Given the description of an element on the screen output the (x, y) to click on. 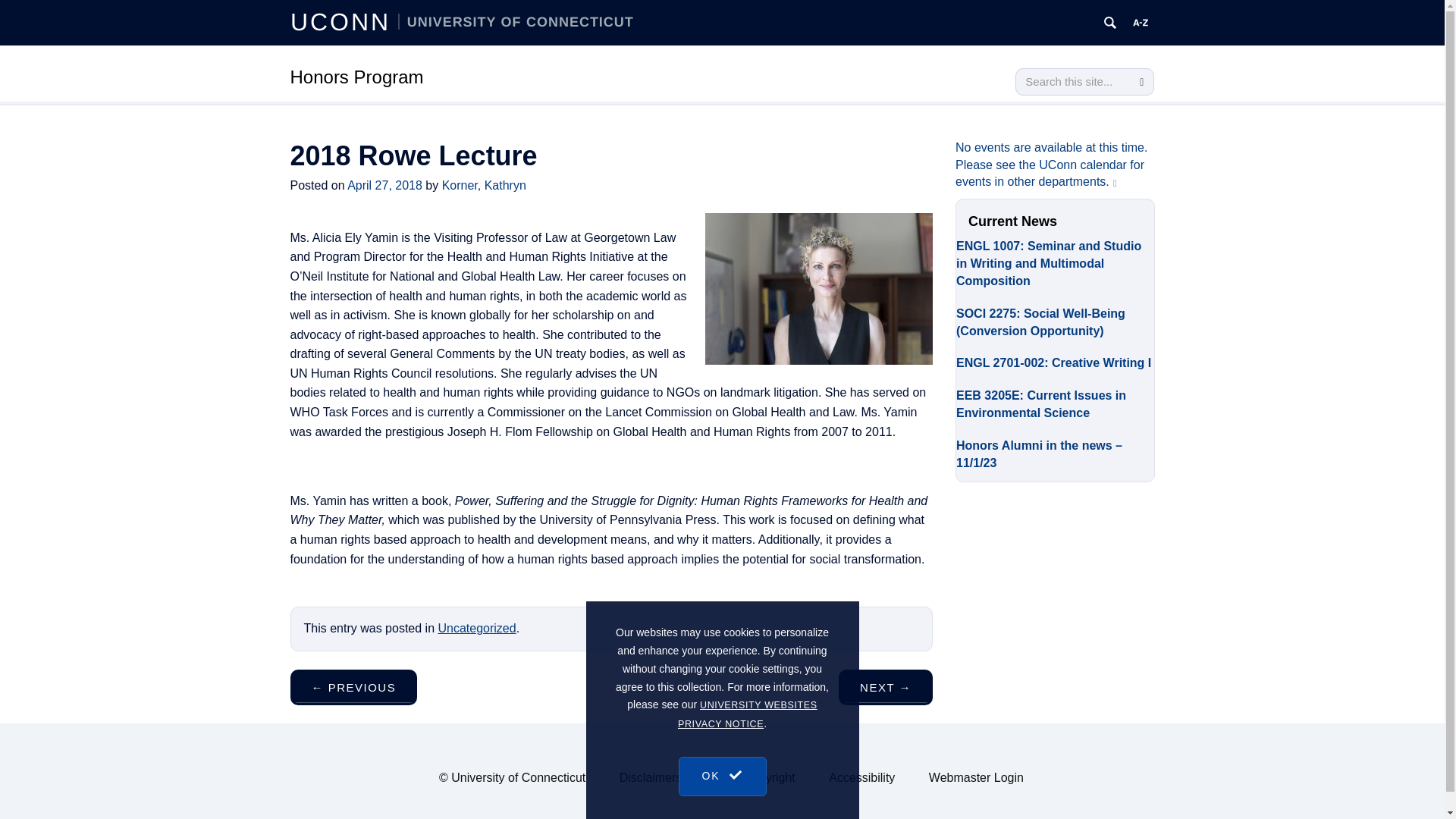
Search (1141, 81)
Search (1141, 81)
Posts by Korner, Kathryn (483, 185)
Honors Program (356, 76)
ENGL 2701-002: Creative Writing I (1055, 360)
Search UConn (1109, 22)
Korner, Kathryn (483, 185)
Webmaster Login (975, 776)
ENGL 2701-002: Creative Writing I (1055, 360)
Uncategorized (476, 627)
EEB 3205E: Current Issues in Environmental Science (1055, 401)
UNIVERSITY OF CONNECTICUT (515, 21)
